Given the description of an element on the screen output the (x, y) to click on. 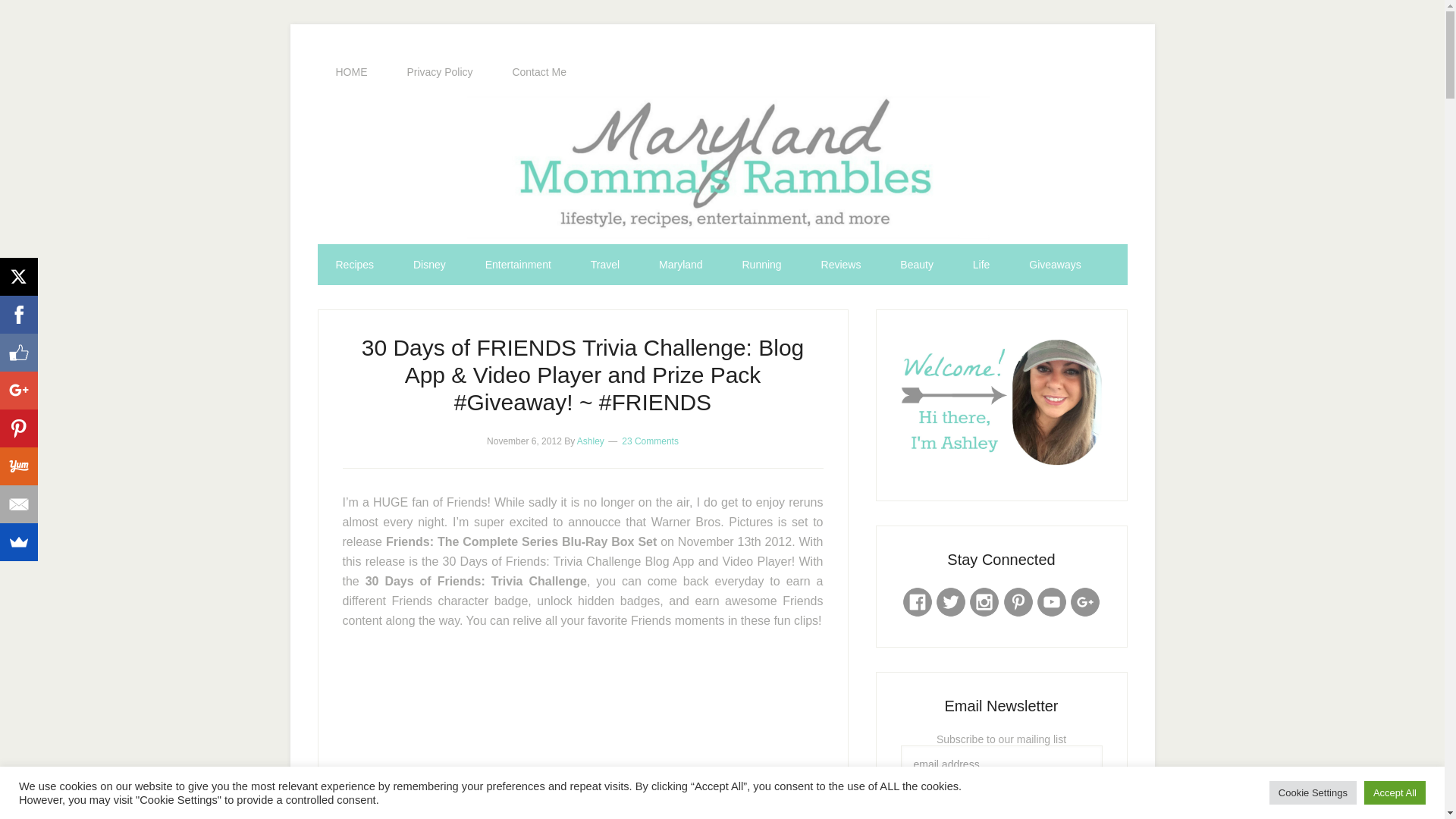
Facebook Like (18, 352)
Reviews (841, 264)
23 Comments (649, 440)
Life (982, 264)
Giveaways (1054, 264)
Facebook (18, 314)
Privacy Policy (439, 71)
Running (761, 264)
Pinterest (18, 428)
Ashley (590, 440)
X (18, 276)
Disney (429, 264)
HOME (351, 71)
Email (18, 504)
Subscribe (1000, 800)
